Given the description of an element on the screen output the (x, y) to click on. 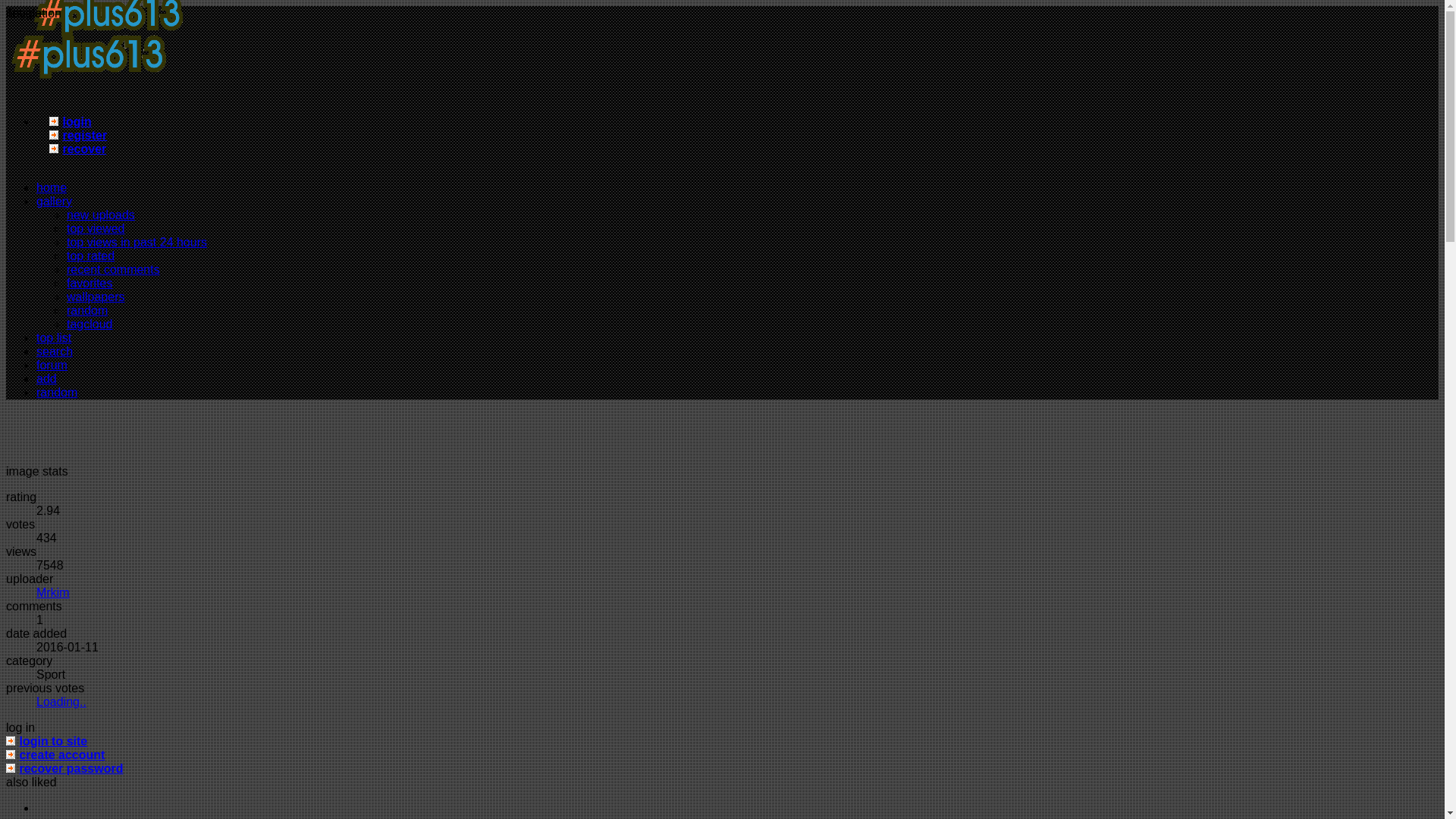
favorites (89, 282)
recover password (70, 768)
home (87, 82)
Loading.. (60, 701)
search (54, 350)
top list (53, 337)
tagcloud (89, 323)
recent comments (113, 269)
login to site (52, 740)
Mrkim (52, 592)
random (86, 309)
register (84, 134)
home (51, 187)
top views in past 24 hours (136, 241)
login (76, 121)
